Given the description of an element on the screen output the (x, y) to click on. 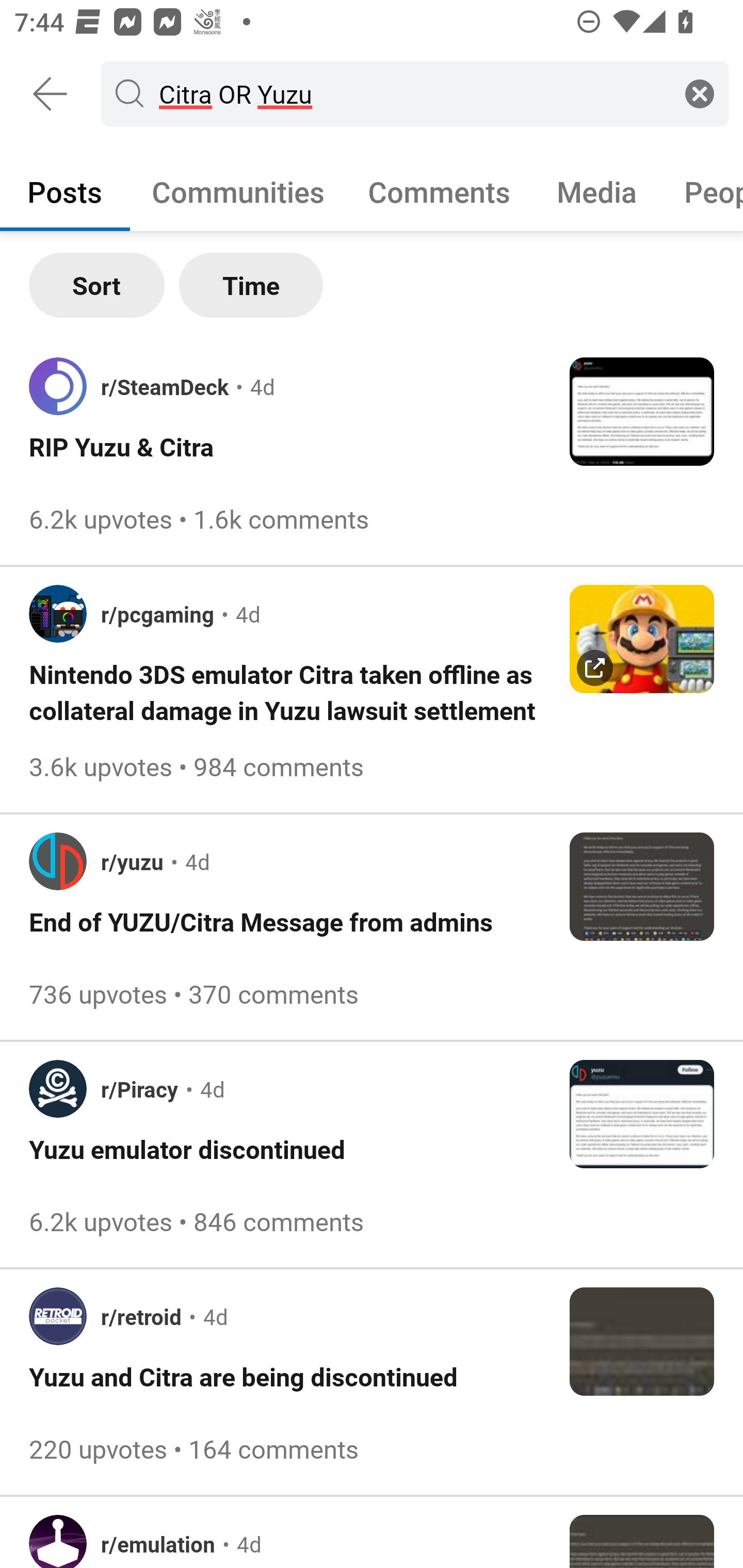
Back (50, 93)
Citra OR Yuzu (410, 93)
Clear search (699, 93)
Communities (238, 191)
Comments (438, 191)
Media (596, 191)
Sort Sort by Most relevant (96, 285)
Time Filter Time by All time (251, 285)
